Given the description of an element on the screen output the (x, y) to click on. 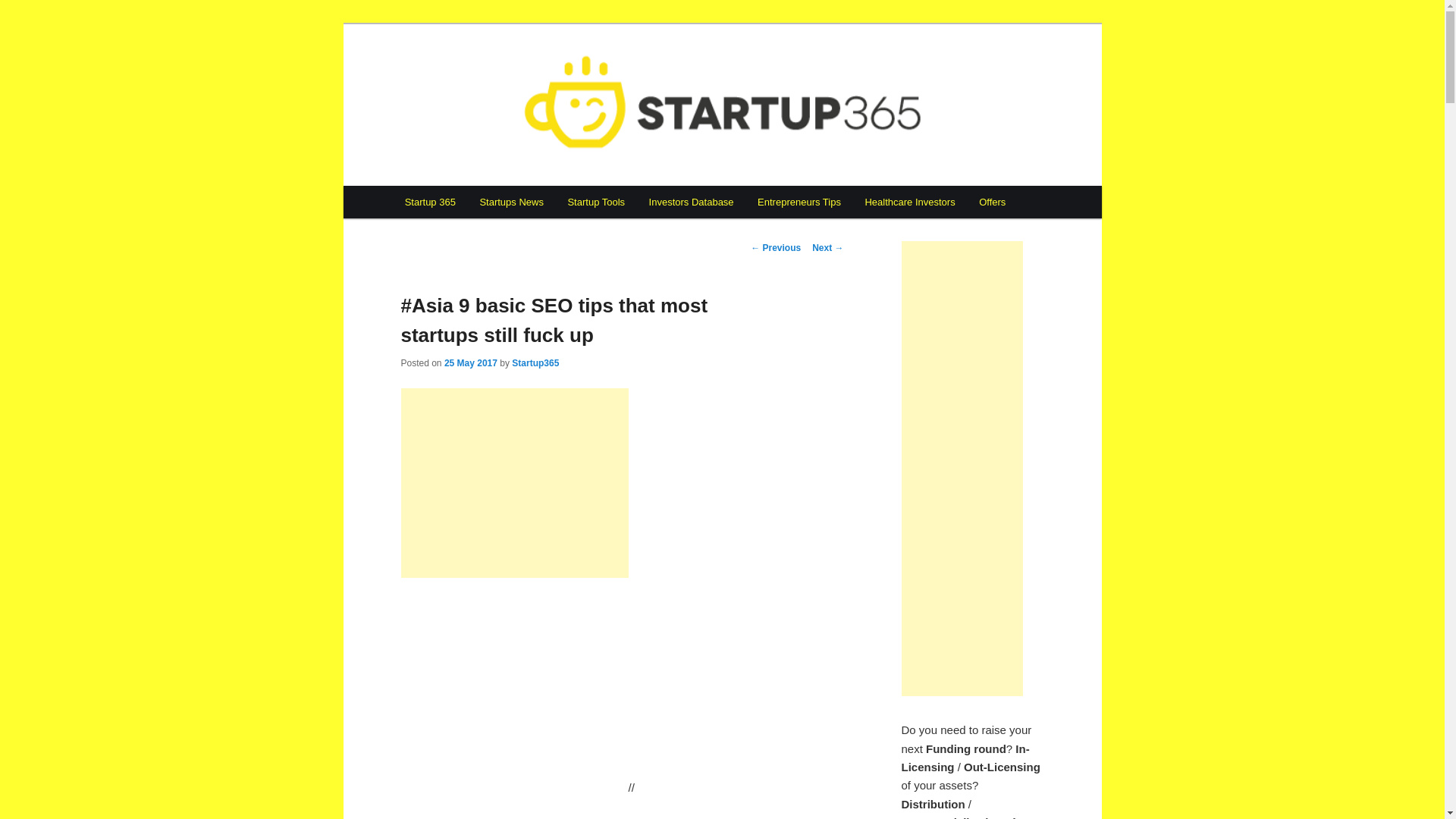
Startup 365 (462, 78)
Startup Tools (596, 201)
Startup365 (535, 362)
Investors Database (691, 201)
Startups News (511, 201)
9:40 AM (470, 362)
View all posts by Startup365 (535, 362)
25 May 2017 (470, 362)
Search (21, 11)
Offers (991, 201)
